Given the description of an element on the screen output the (x, y) to click on. 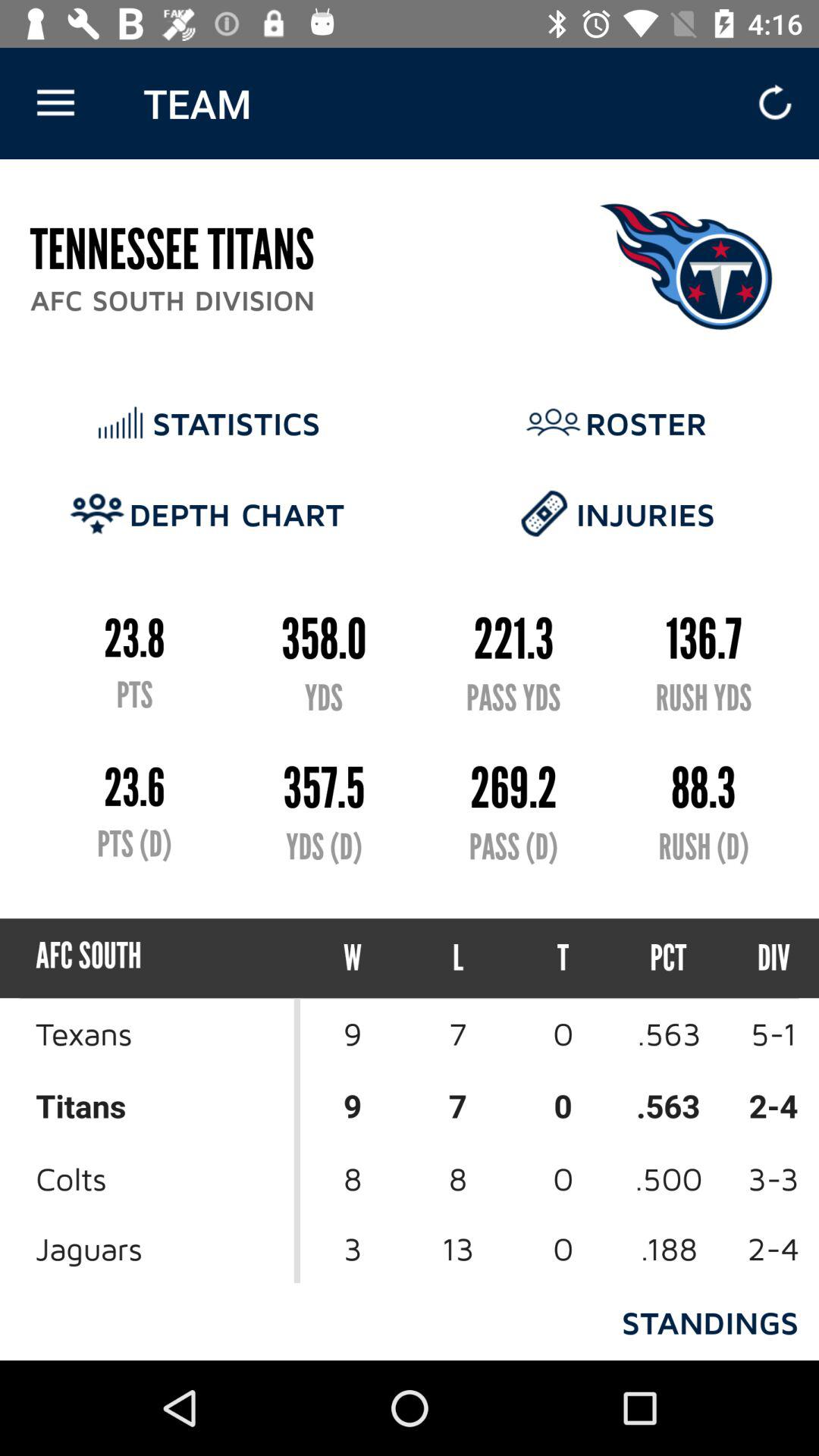
tap icon above the 0 (668, 958)
